Given the description of an element on the screen output the (x, y) to click on. 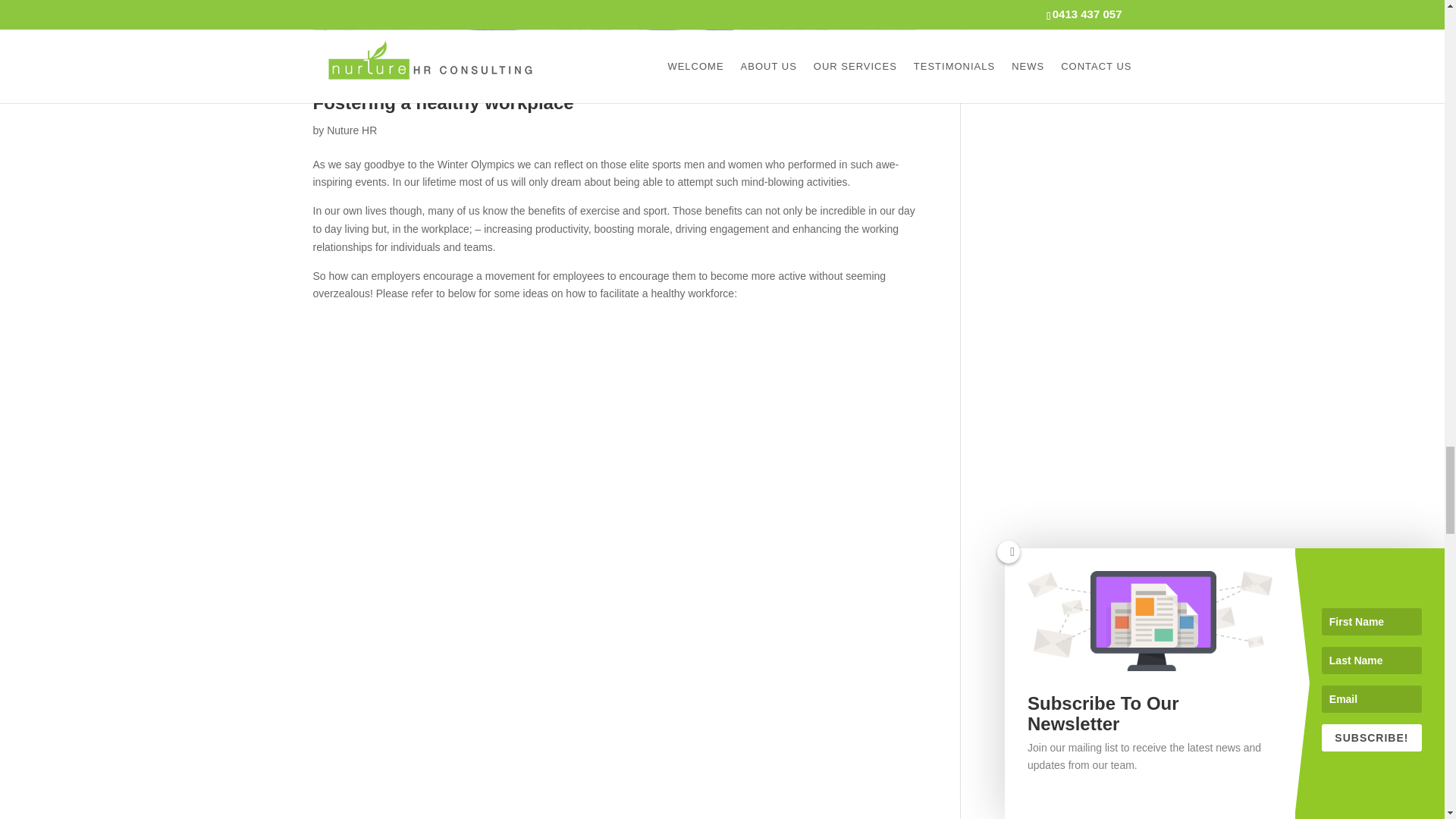
Posts by Nuture HR (351, 130)
Nuture HR (351, 130)
Fostering a healthy workplace (443, 102)
